Given the description of an element on the screen output the (x, y) to click on. 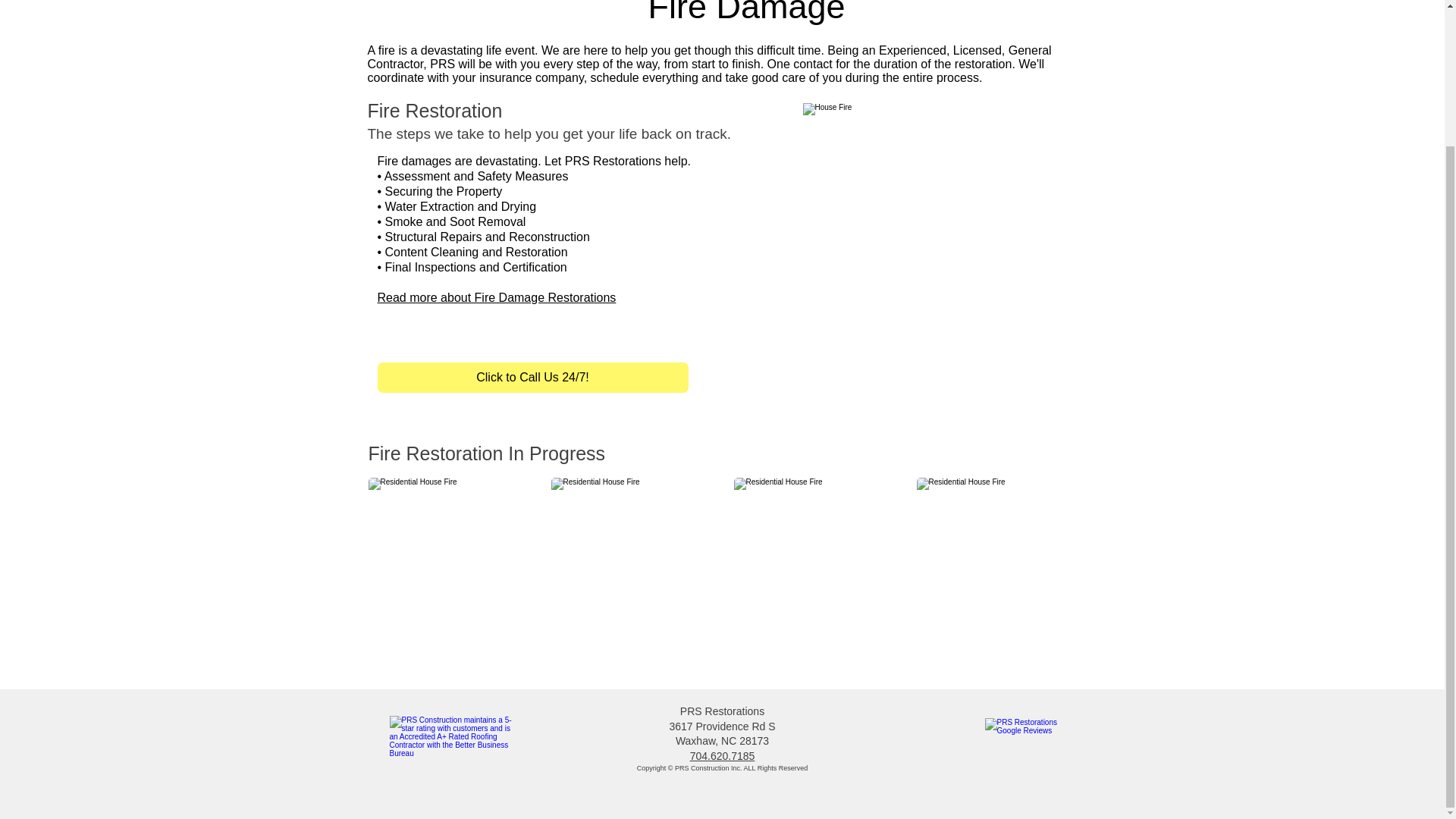
Read more about Fire Damage Restorations (496, 297)
704.620.7185 (722, 756)
PRS Restorations Fire Damage Restoration (925, 226)
